Given the description of an element on the screen output the (x, y) to click on. 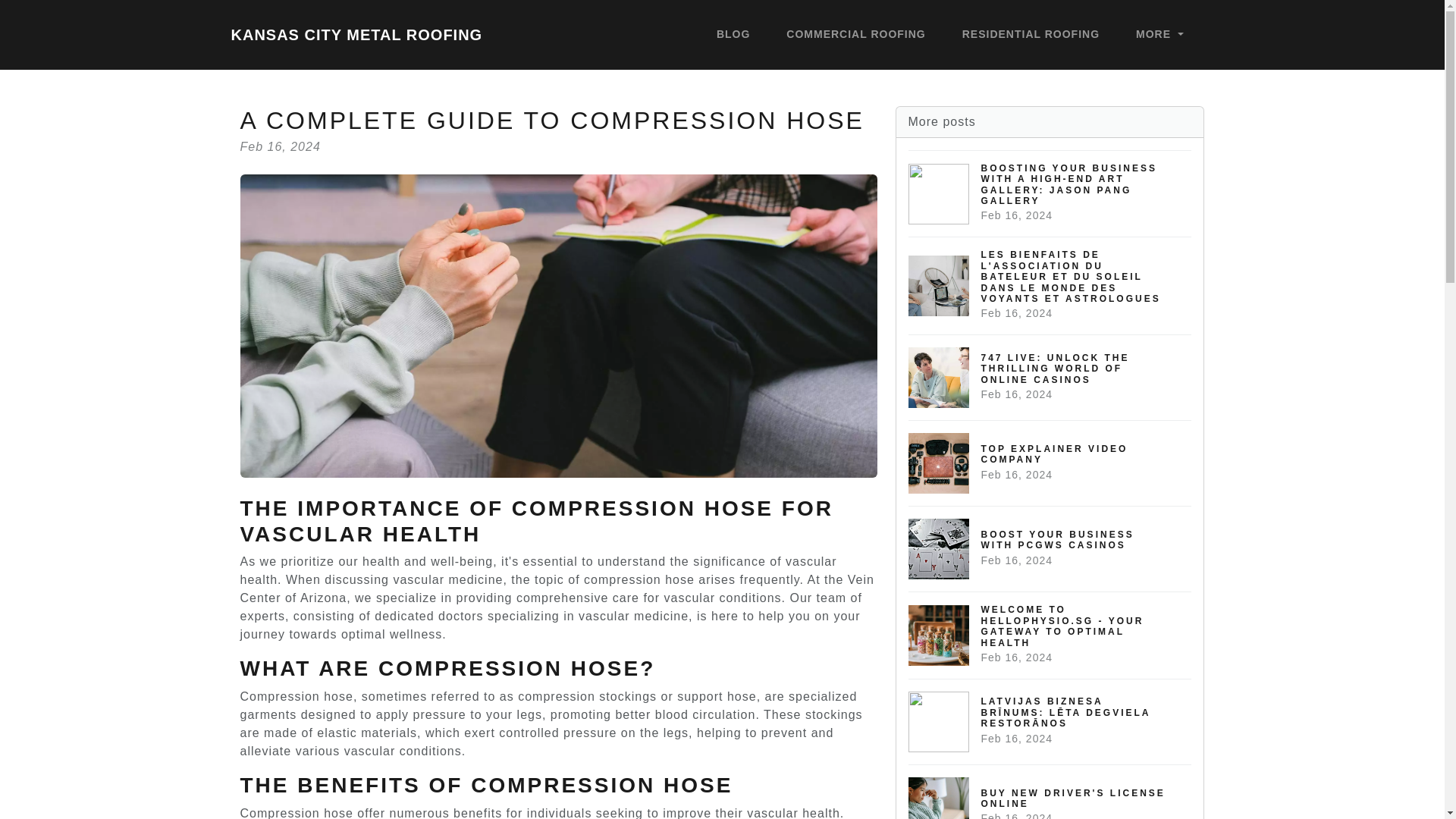
RESIDENTIAL ROOFING (1030, 34)
MORE (1050, 548)
BLOG (1159, 34)
COMMERCIAL ROOFING (1050, 463)
KANSAS CITY METAL ROOFING (732, 34)
